Given the description of an element on the screen output the (x, y) to click on. 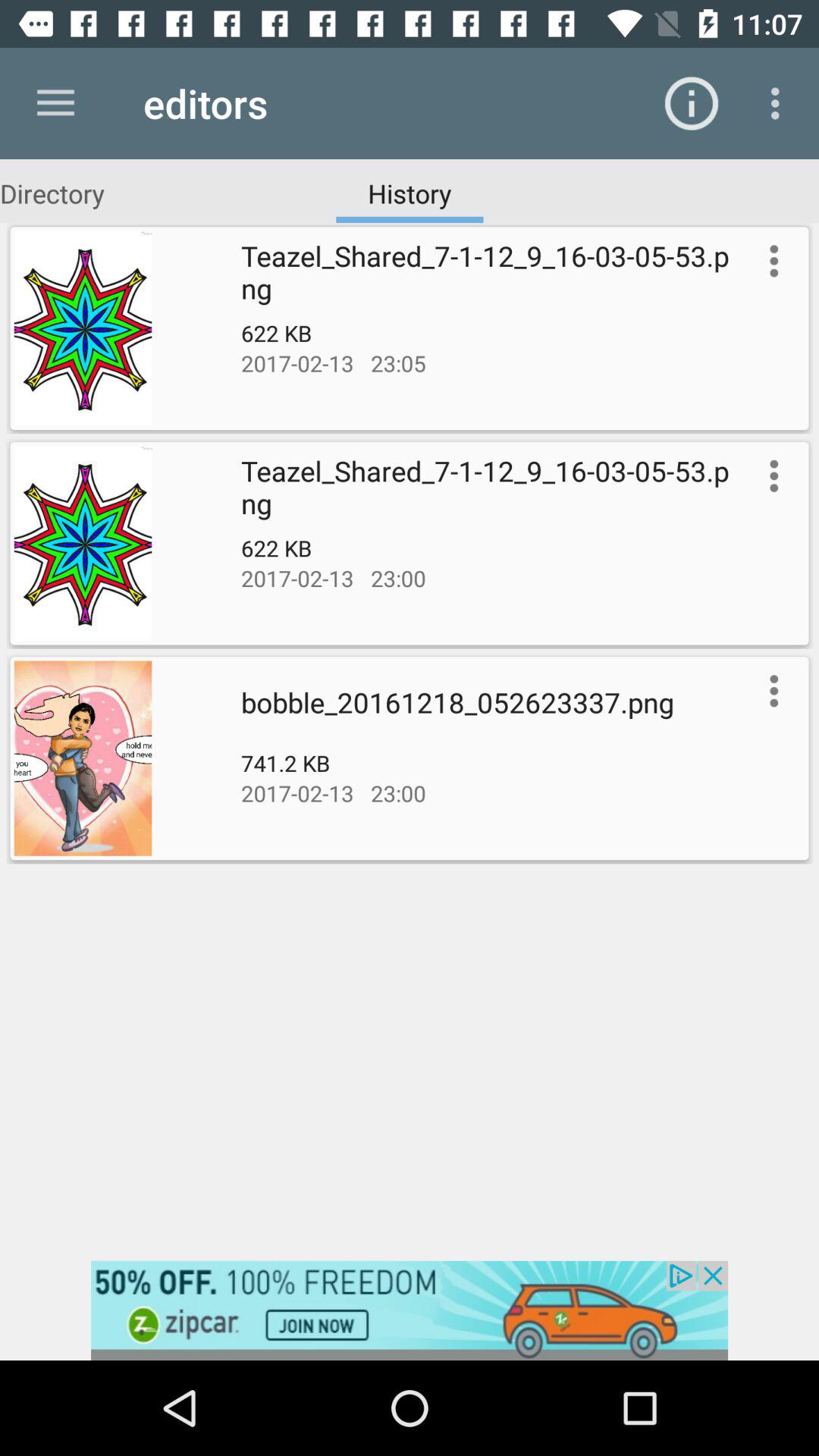
more (770, 260)
